Given the description of an element on the screen output the (x, y) to click on. 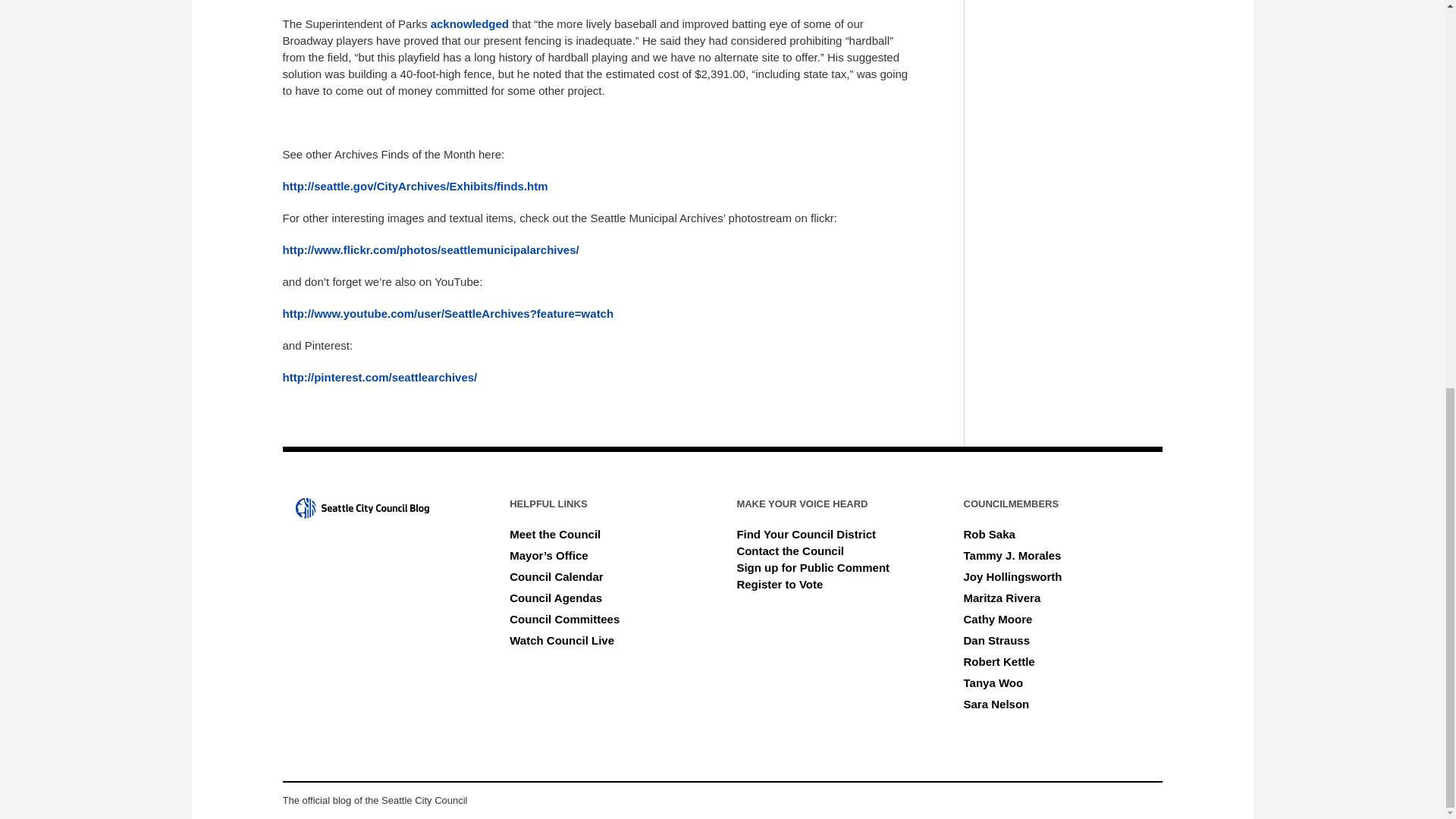
Council Calendar (555, 576)
Find Your Council District (806, 533)
Contact the Council (790, 550)
Meet the Council (554, 533)
Watch Council Live (561, 640)
Register to Vote (779, 584)
Council Agendas (555, 597)
acknowledged (469, 23)
Council Committees (564, 618)
Sign up for Public Comment (812, 567)
